Given the description of an element on the screen output the (x, y) to click on. 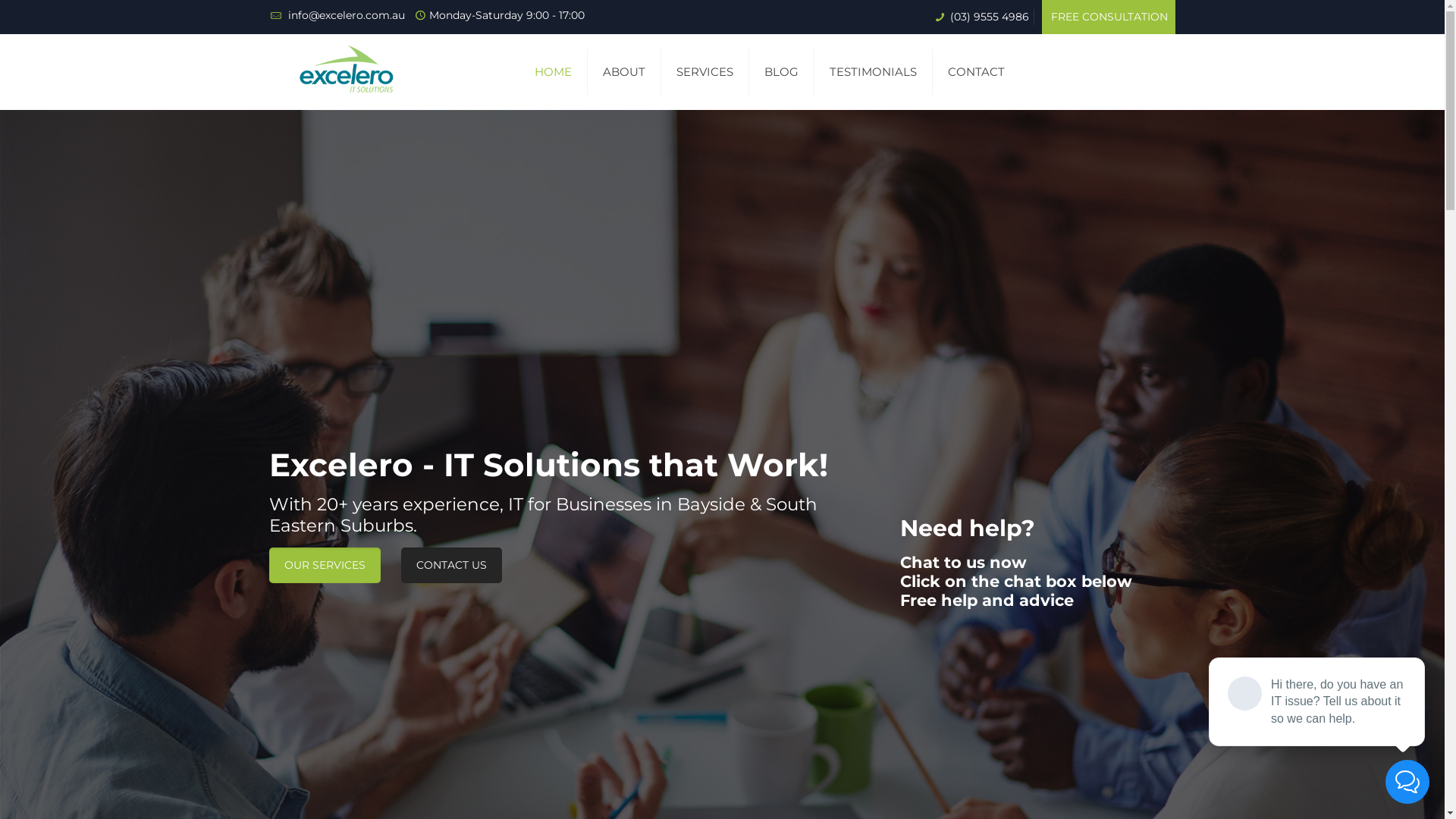
ABOUT Element type: text (624, 71)
BLOG Element type: text (781, 71)
CONTACT US Element type: text (451, 565)
Excelero Element type: hover (347, 71)
(03) 9555 4986 Element type: text (988, 16)
TESTIMONIALS Element type: text (873, 71)
CONTACT Element type: text (975, 71)
FREE CONSULTATION Element type: text (1109, 16)
SERVICES Element type: text (705, 71)
info@excelero.com.au Element type: text (344, 14)
HOME Element type: text (553, 71)
OUR SERVICES Element type: text (324, 565)
